Given the description of an element on the screen output the (x, y) to click on. 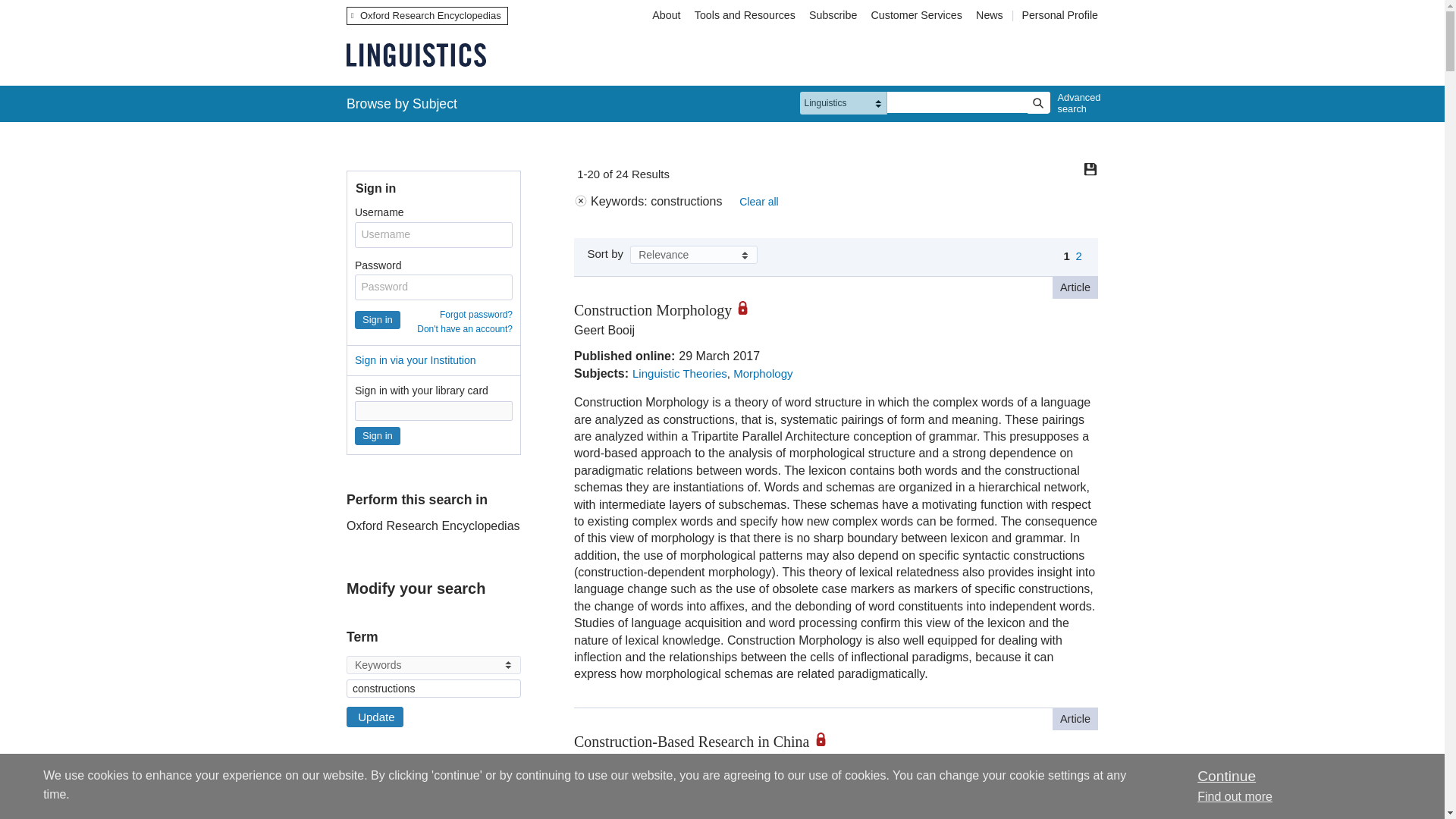
Oxford Research Encyclopedias (427, 15)
Advanced search (1075, 103)
Oxford Research Encyclopedia of Linguistics (416, 54)
Subject Reference (351, 809)
Search (1037, 102)
Browse by Subject (401, 103)
Close this message (1225, 775)
Forgot password? (475, 314)
Tools and Resources (744, 15)
Personal Profile (1059, 15)
About (665, 15)
Search (1037, 102)
constructions (433, 688)
 Update (374, 716)
How we use cookies on this site (1234, 796)
